Given the description of an element on the screen output the (x, y) to click on. 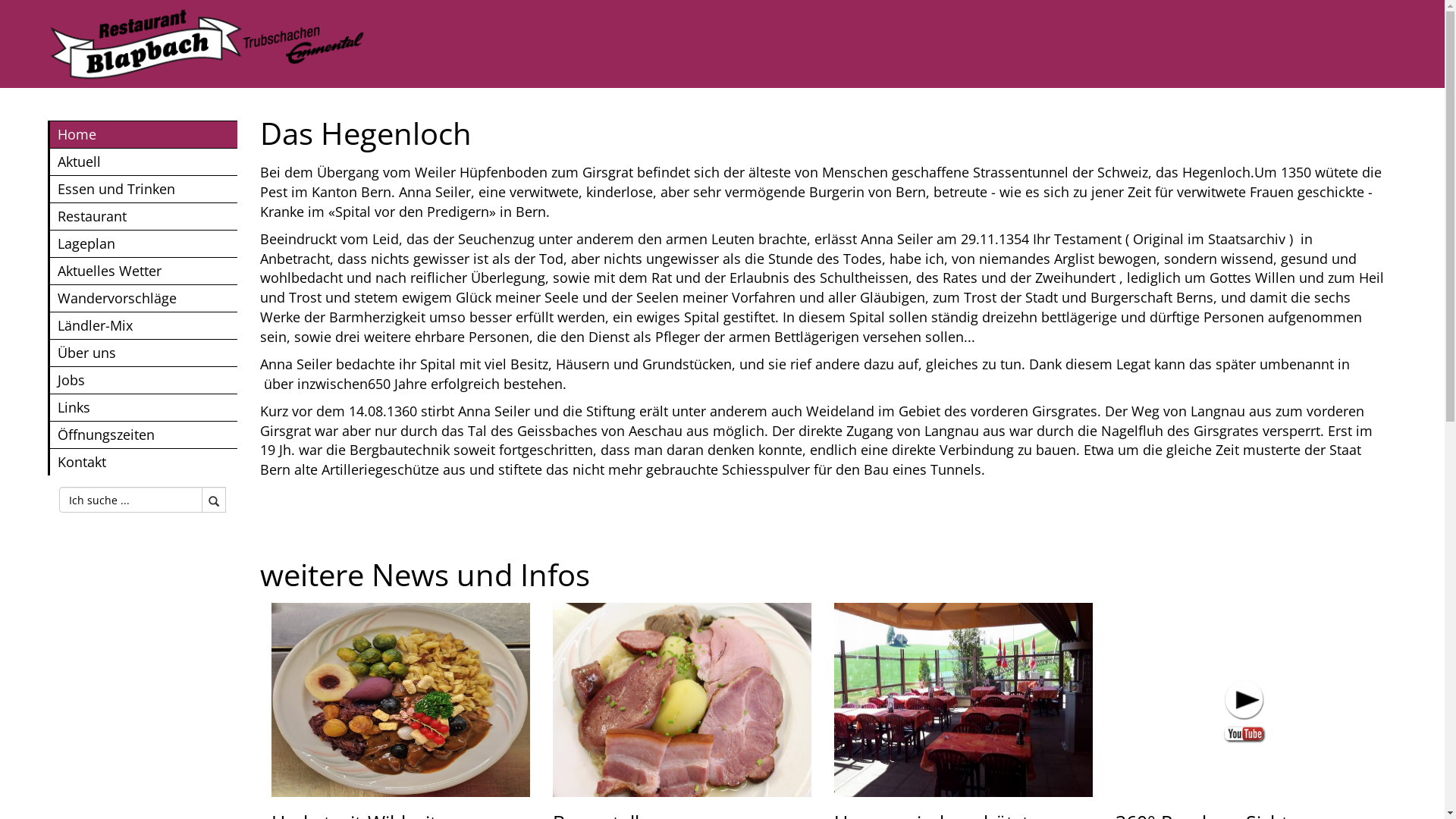
Links Element type: text (142, 406)
Kontakt Element type: text (142, 461)
Lageplan Element type: text (142, 243)
Aktuelles Wetter Element type: text (142, 270)
Jobs Element type: text (142, 379)
Aktuell Element type: text (142, 161)
Home Element type: text (142, 133)
Restaurant Element type: text (142, 215)
Essen und Trinken Element type: text (142, 188)
